Given the description of an element on the screen output the (x, y) to click on. 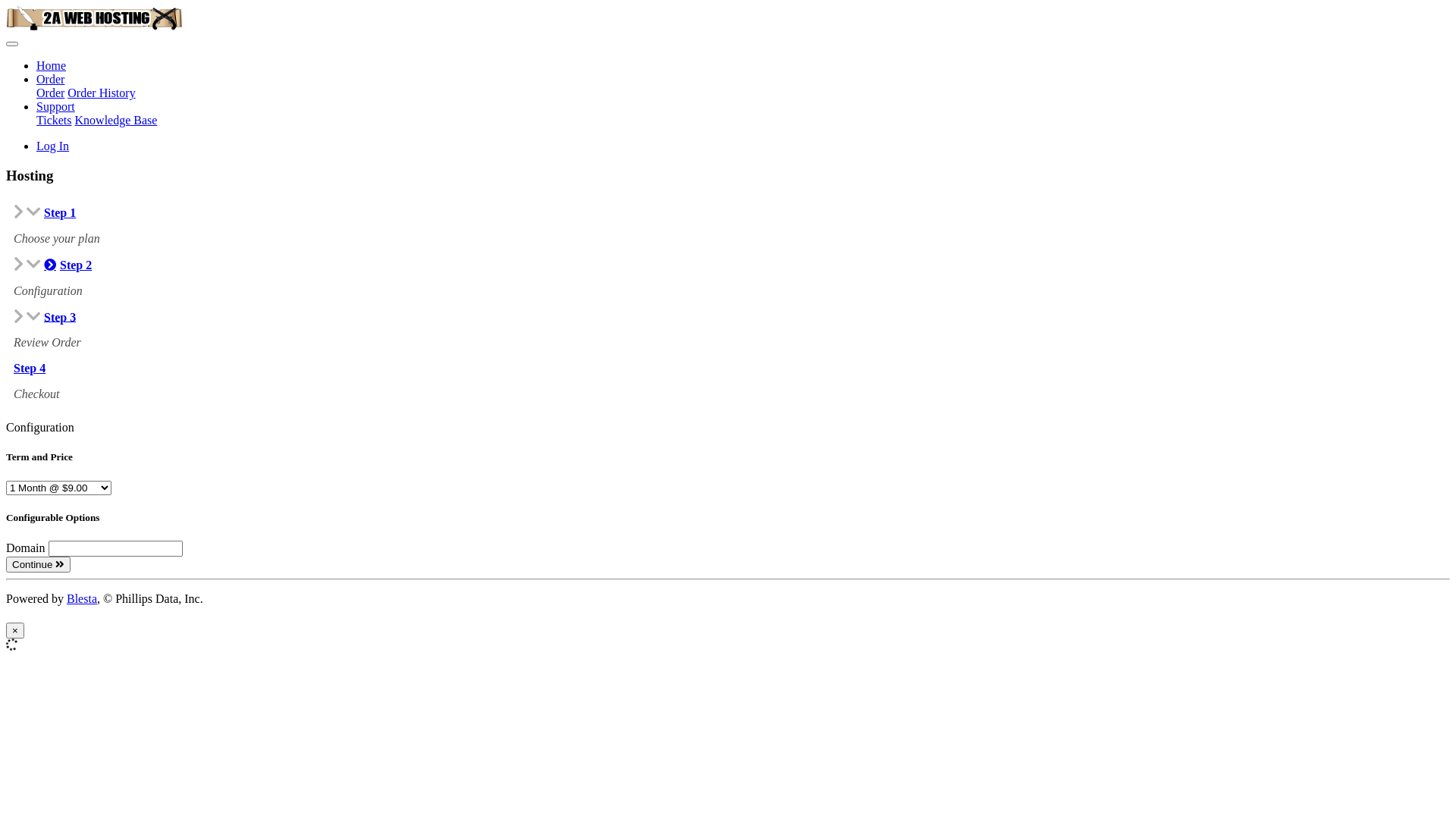
Step 4 Element type: text (29, 367)
Order Element type: text (50, 78)
Knowledge Base Element type: text (116, 119)
Continue Element type: text (38, 564)
Blesta Element type: text (81, 598)
Support Element type: text (55, 106)
Step 1 Element type: text (59, 212)
Tickets Element type: text (54, 119)
Step 3 Element type: text (59, 316)
Log In Element type: text (52, 145)
Order Element type: text (50, 92)
Order History Element type: text (100, 92)
Home Element type: text (50, 65)
Step 2 Element type: text (67, 264)
